Given the description of an element on the screen output the (x, y) to click on. 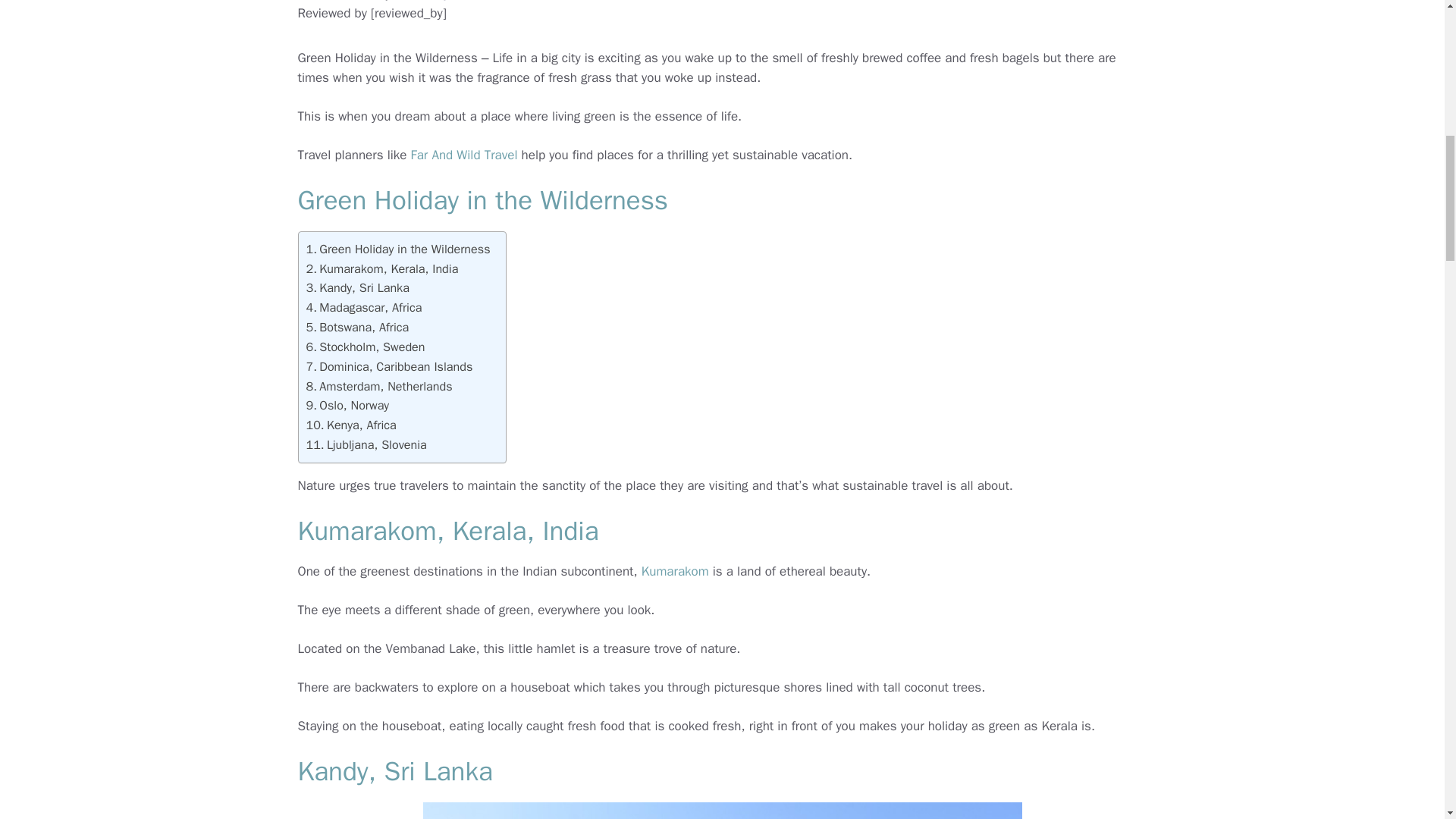
Oslo, Norway (347, 405)
Amsterdam, Netherlands (378, 386)
Ljubljana, Slovenia (365, 444)
Madagascar, Africa (363, 307)
Oslo, Norway (347, 405)
Green Holiday in the Wilderness (397, 249)
Ljubljana, Slovenia (365, 444)
Kumarakom, Kerala, India (381, 269)
Botswana, Africa (357, 327)
Kenya, Africa (350, 424)
Amsterdam, Netherlands (378, 386)
Kenya, Africa (350, 424)
Stockholm, Sweden (365, 347)
Kandy, Sri Lanka (357, 288)
Dominica, Caribbean Islands (389, 366)
